Given the description of an element on the screen output the (x, y) to click on. 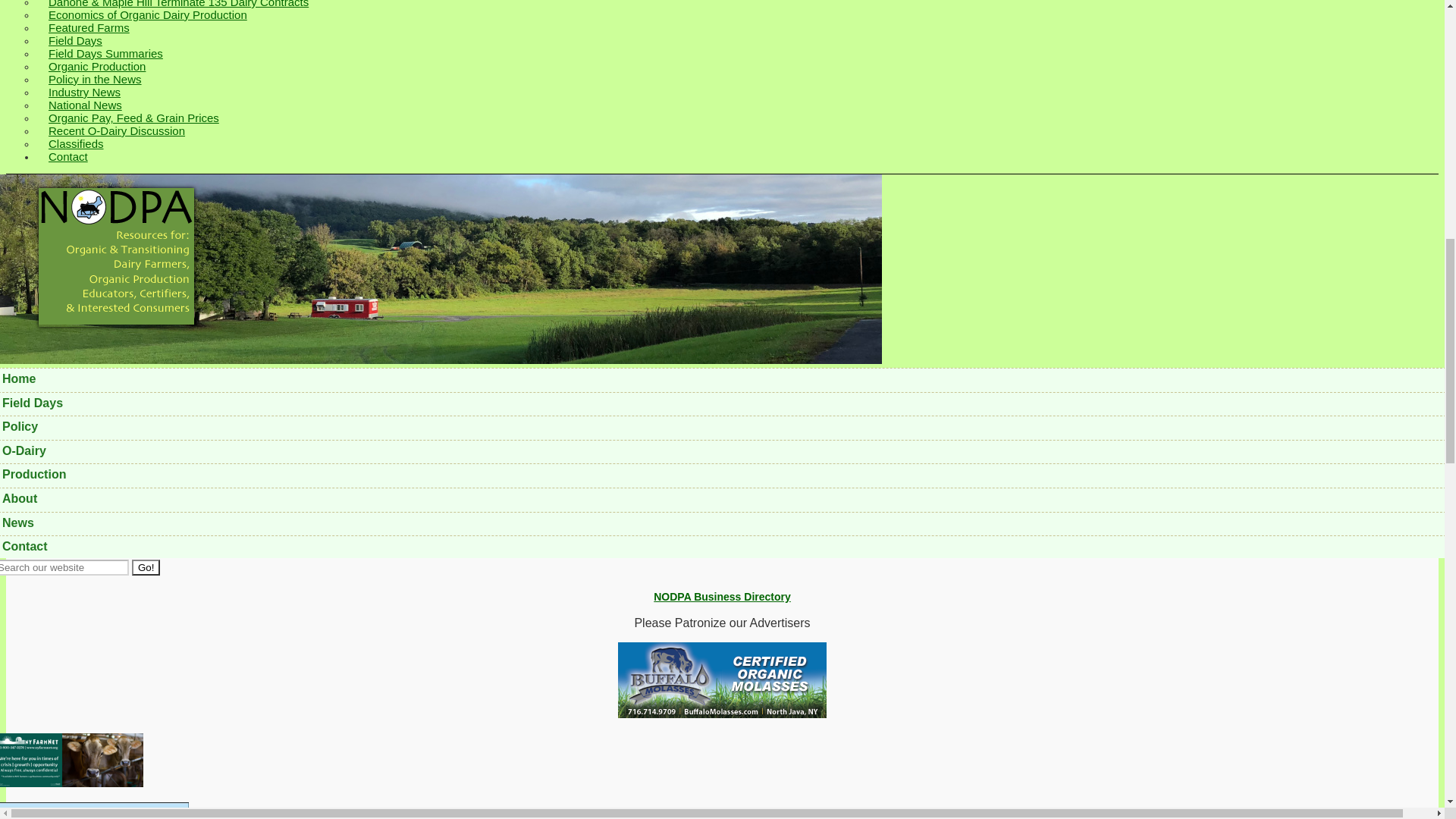
Search Term (64, 567)
Contact (725, 546)
Home (725, 378)
News (725, 522)
